Given the description of an element on the screen output the (x, y) to click on. 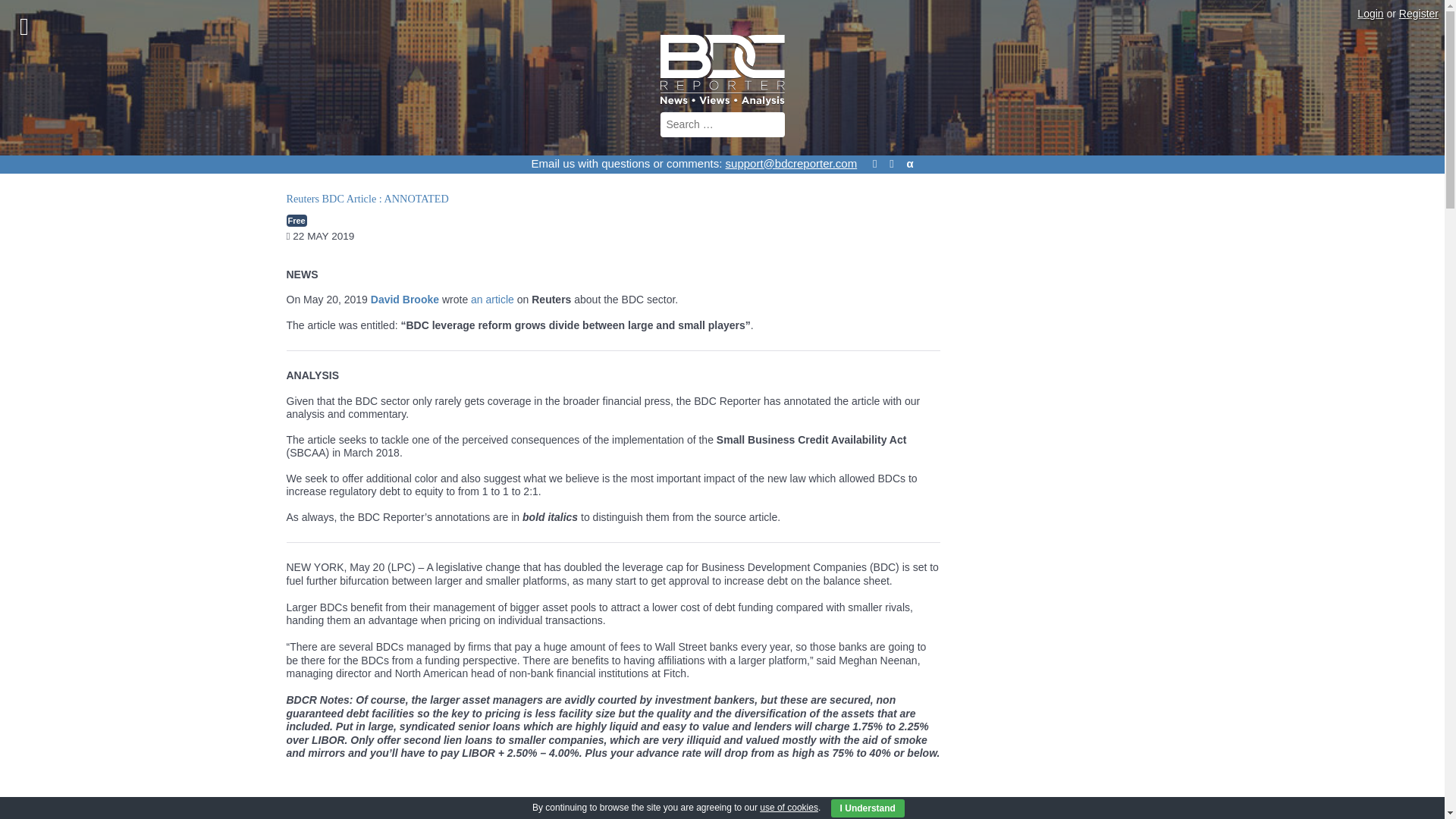
use of cookies (789, 807)
Search for: (721, 124)
I Understand (867, 808)
an article (491, 299)
Search (61, 12)
Login (1369, 13)
David Brooke (405, 299)
Free (296, 220)
Register (1418, 13)
